Given the description of an element on the screen output the (x, y) to click on. 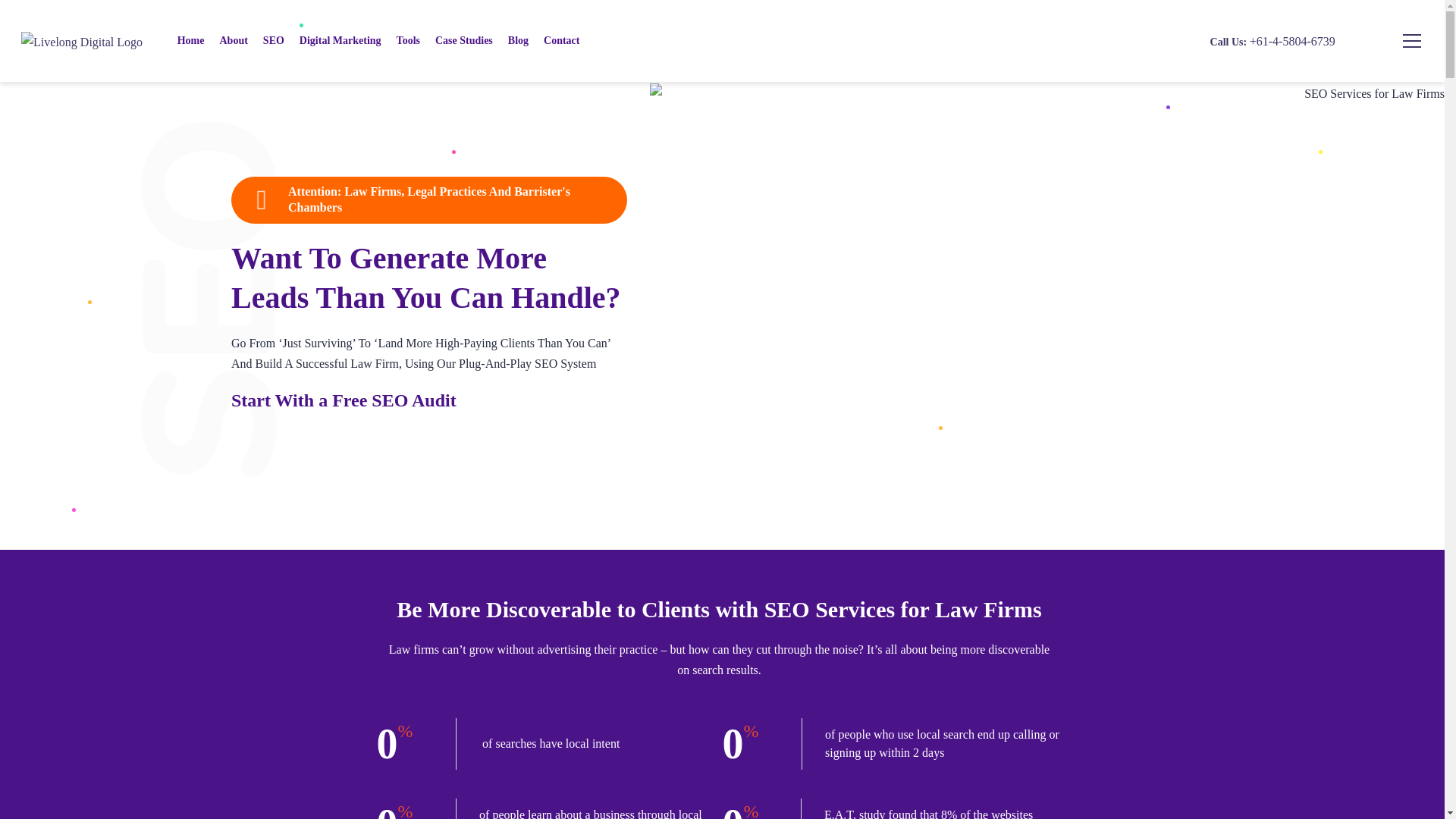
Home Element type: text (190, 40)
SEO Element type: text (273, 40)
Tools Element type: text (408, 40)
Digital Marketing Element type: text (340, 40)
Contact Element type: text (561, 40)
Call Us: +61-4-5804-6739 Element type: text (1272, 41)
Case Studies Element type: text (463, 40)
Search Element type: text (1364, 81)
Blog Element type: text (518, 40)
About Element type: text (232, 40)
Lawyer-law-firms Element type: hover (1046, 365)
SEO Services for Law Firms 4 Element type: hover (209, 299)
